Given the description of an element on the screen output the (x, y) to click on. 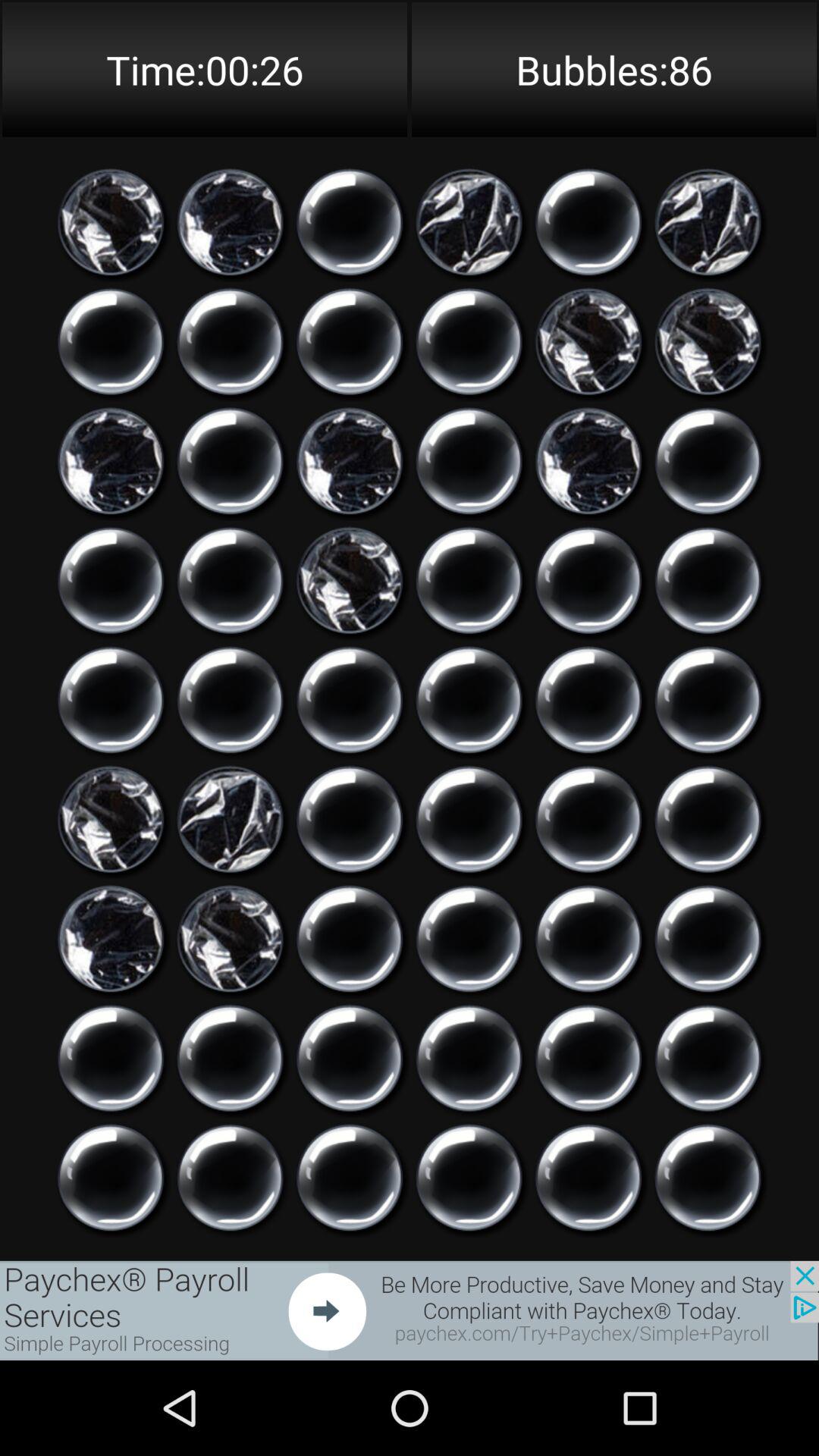
go back (707, 699)
